Given the description of an element on the screen output the (x, y) to click on. 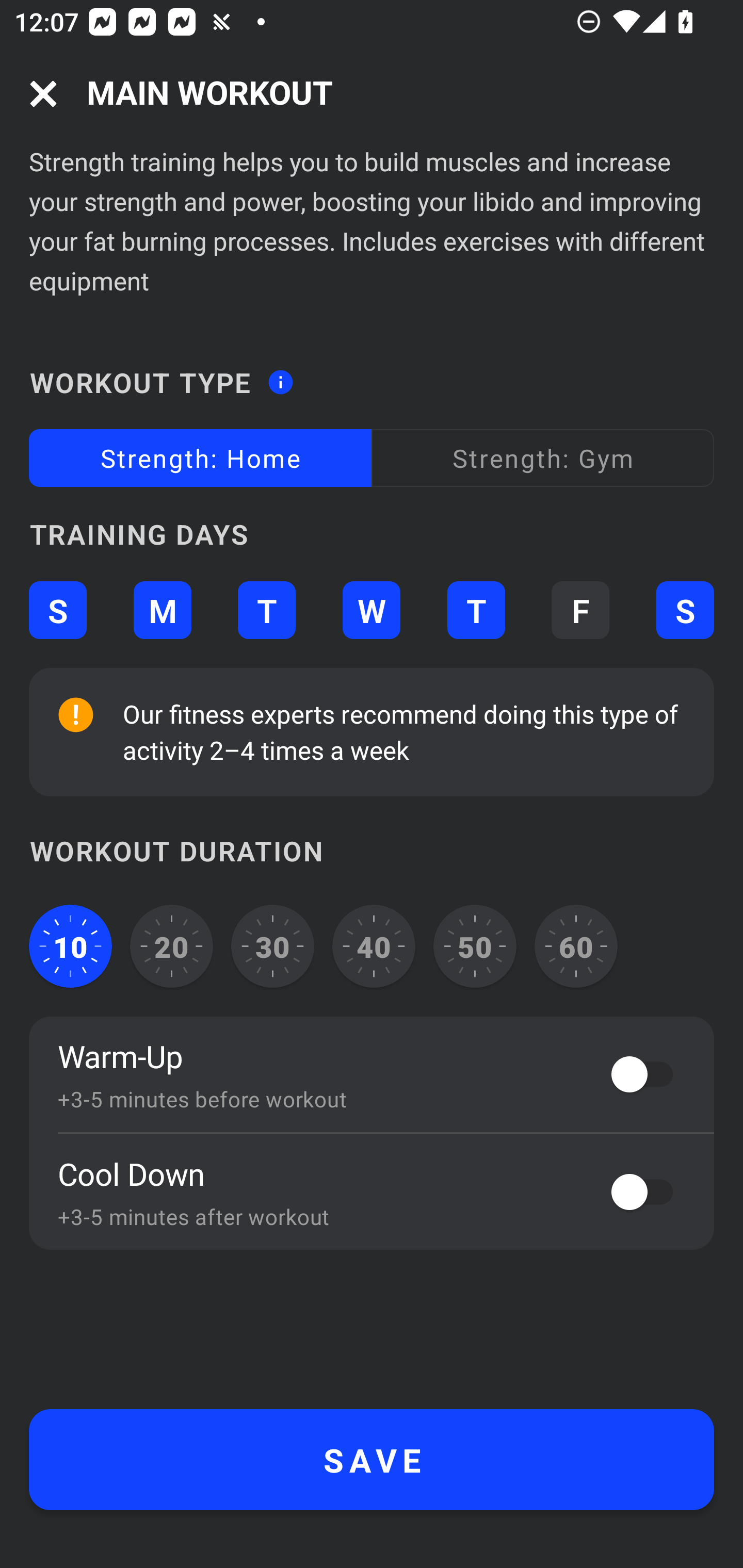
Navigation icon (43, 93)
Workout type information button (280, 375)
Strength: Home (199, 457)
Strength: Gym (542, 457)
F (580, 610)
10 (70, 946)
20 (171, 946)
30 (272, 946)
40 (373, 946)
50 (474, 946)
60 (575, 946)
SAVE (371, 1459)
